Given the description of an element on the screen output the (x, y) to click on. 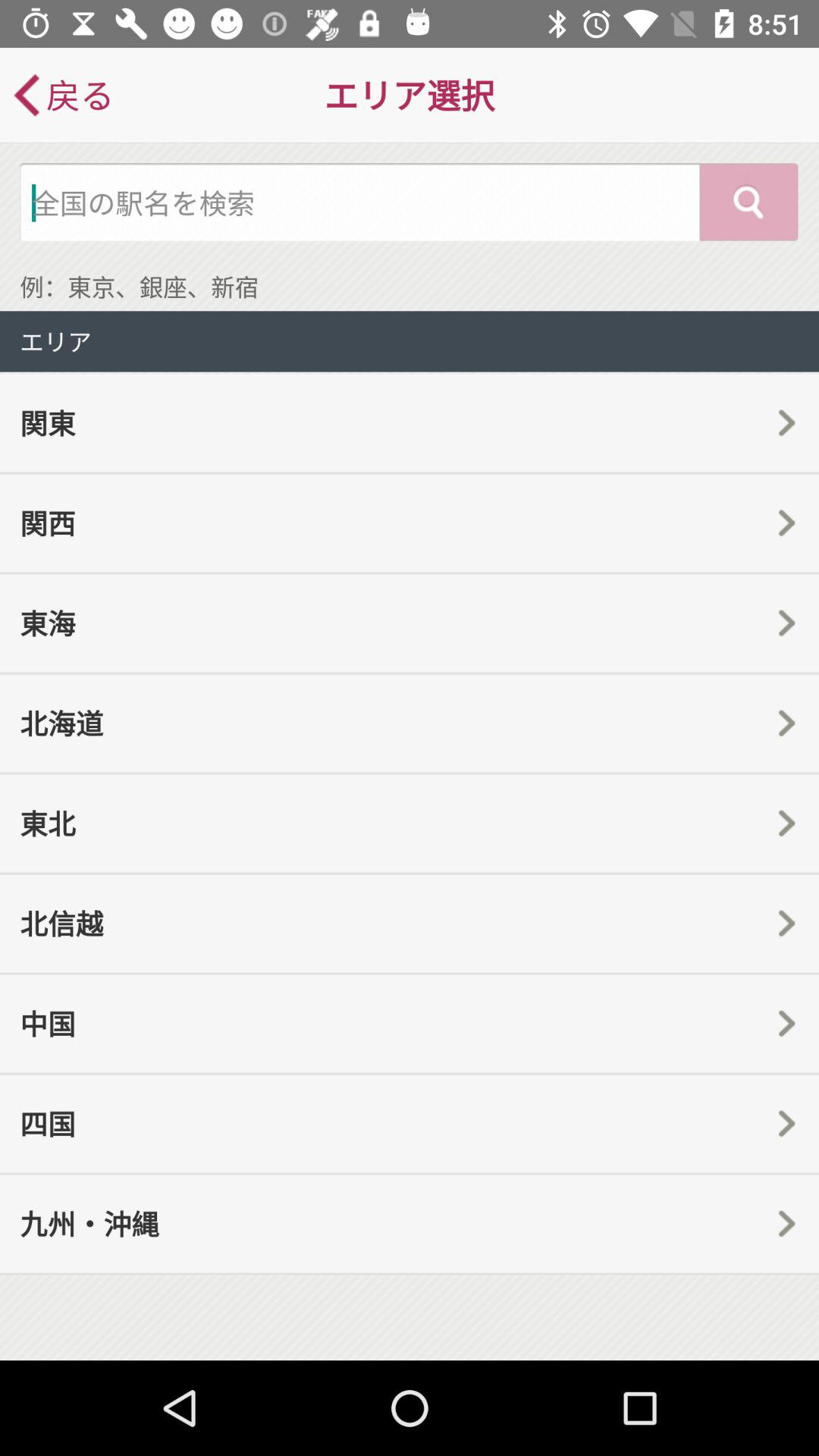
open icon at the top left corner (62, 95)
